Given the description of an element on the screen output the (x, y) to click on. 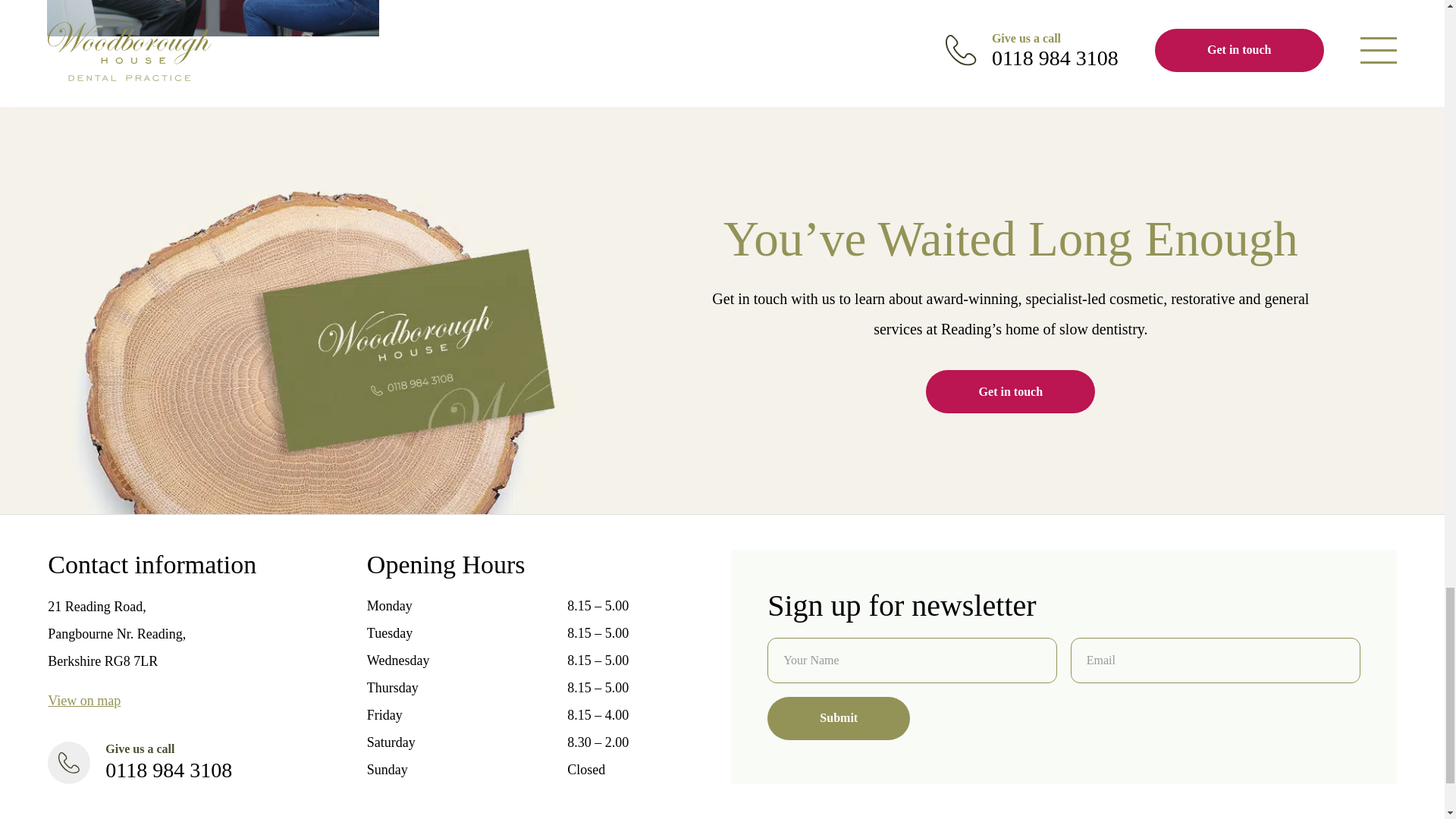
Submit (838, 718)
